Given the description of an element on the screen output the (x, y) to click on. 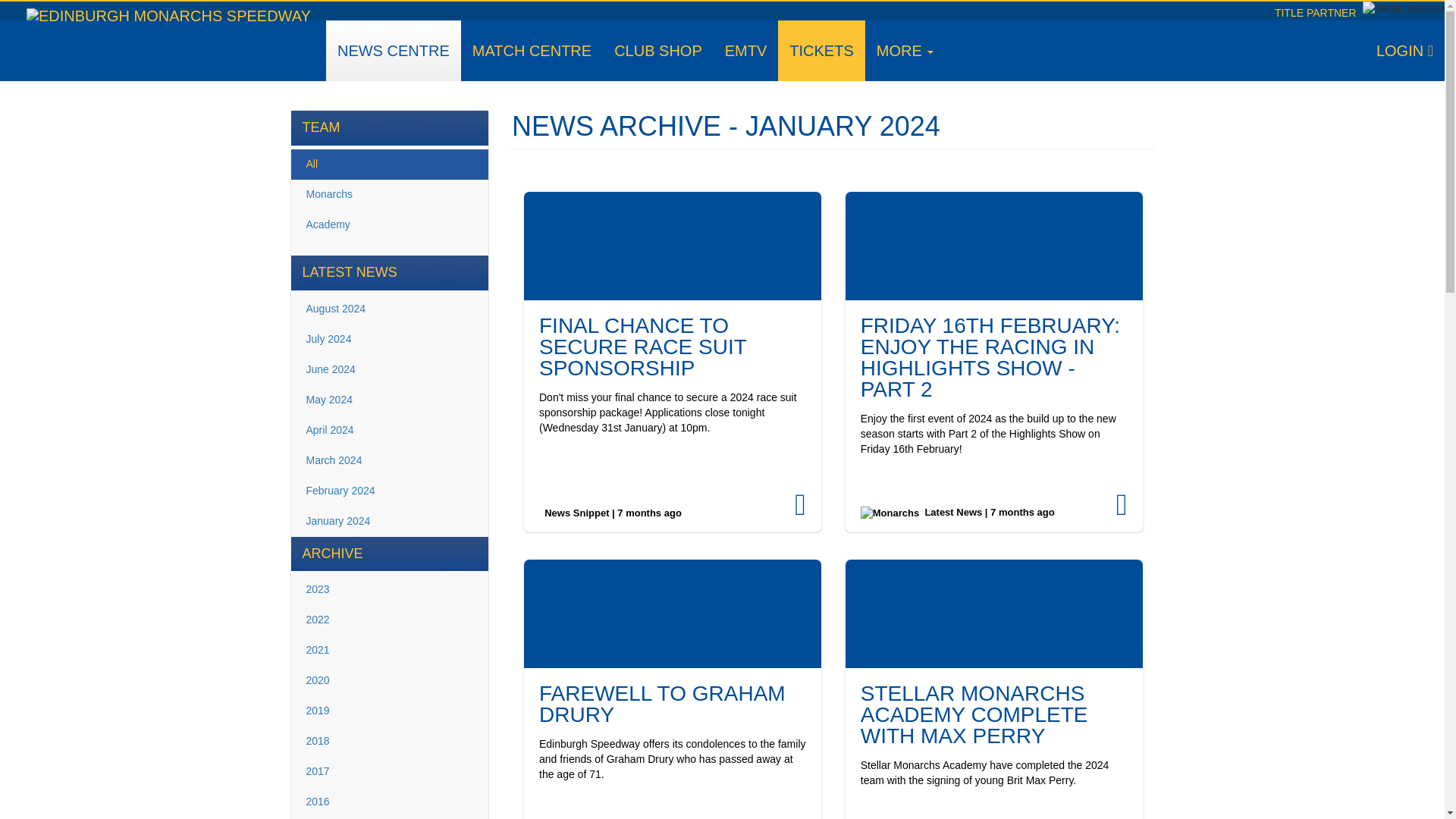
MORE (904, 50)
MATCH CENTRE (531, 50)
TICKETS (820, 50)
CLUB SHOP (657, 50)
EMTV (745, 50)
Monarchs (889, 513)
TEAM (390, 127)
Monarchs (390, 194)
NEWS CENTRE (393, 50)
All (390, 164)
